Given the description of an element on the screen output the (x, y) to click on. 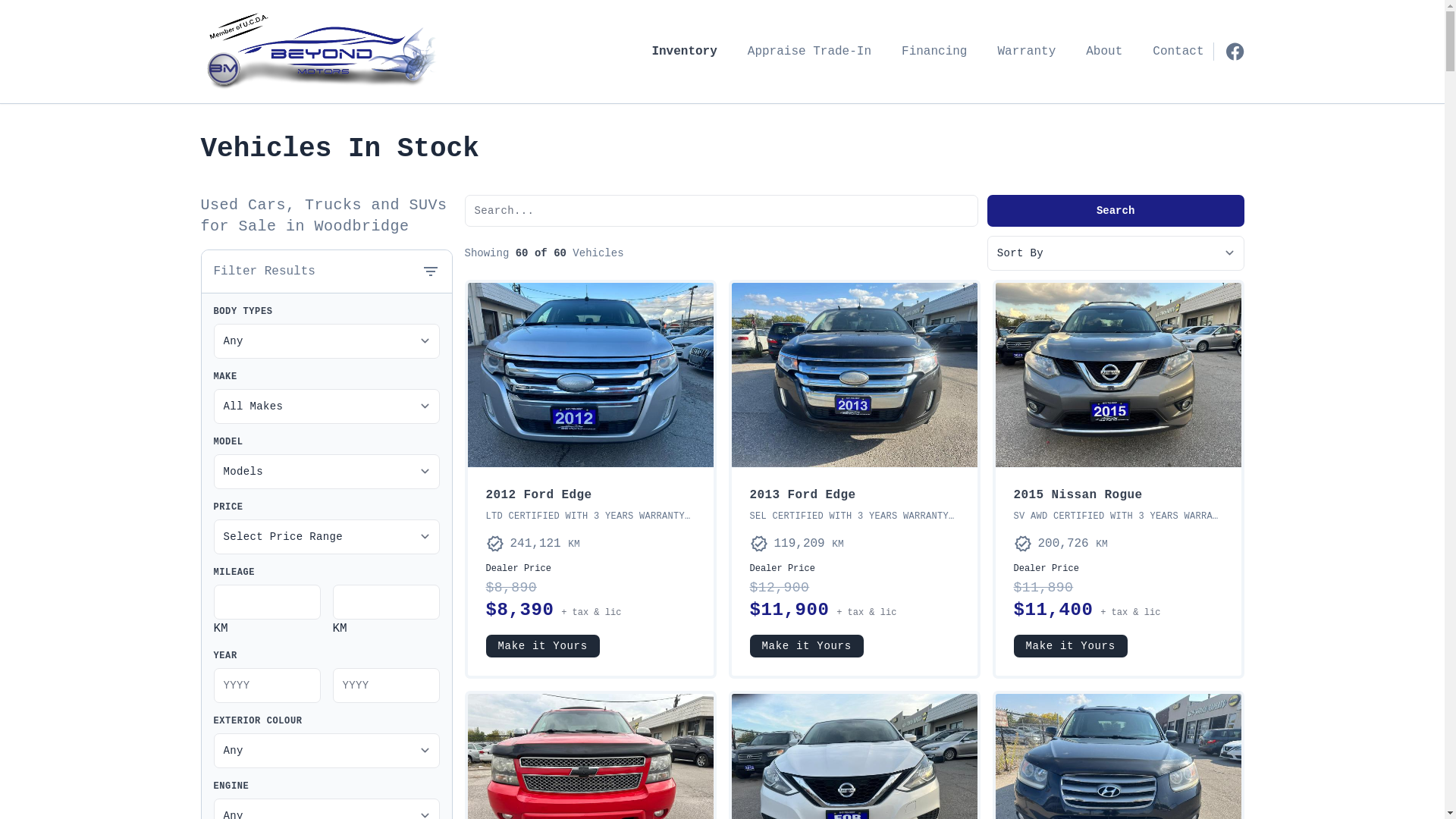
Appraise Trade-In Element type: text (809, 51)
Make it Yours Element type: text (805, 645)
Inventory Element type: text (683, 51)
Warranty Element type: text (1026, 51)
Search Element type: text (1115, 210)
Make it Yours Element type: text (542, 645)
Filter Results Element type: text (326, 271)
Financing Element type: text (933, 51)
Contact Element type: text (1177, 51)
About Element type: text (1103, 51)
Make it Yours Element type: text (1069, 645)
